Given the description of an element on the screen output the (x, y) to click on. 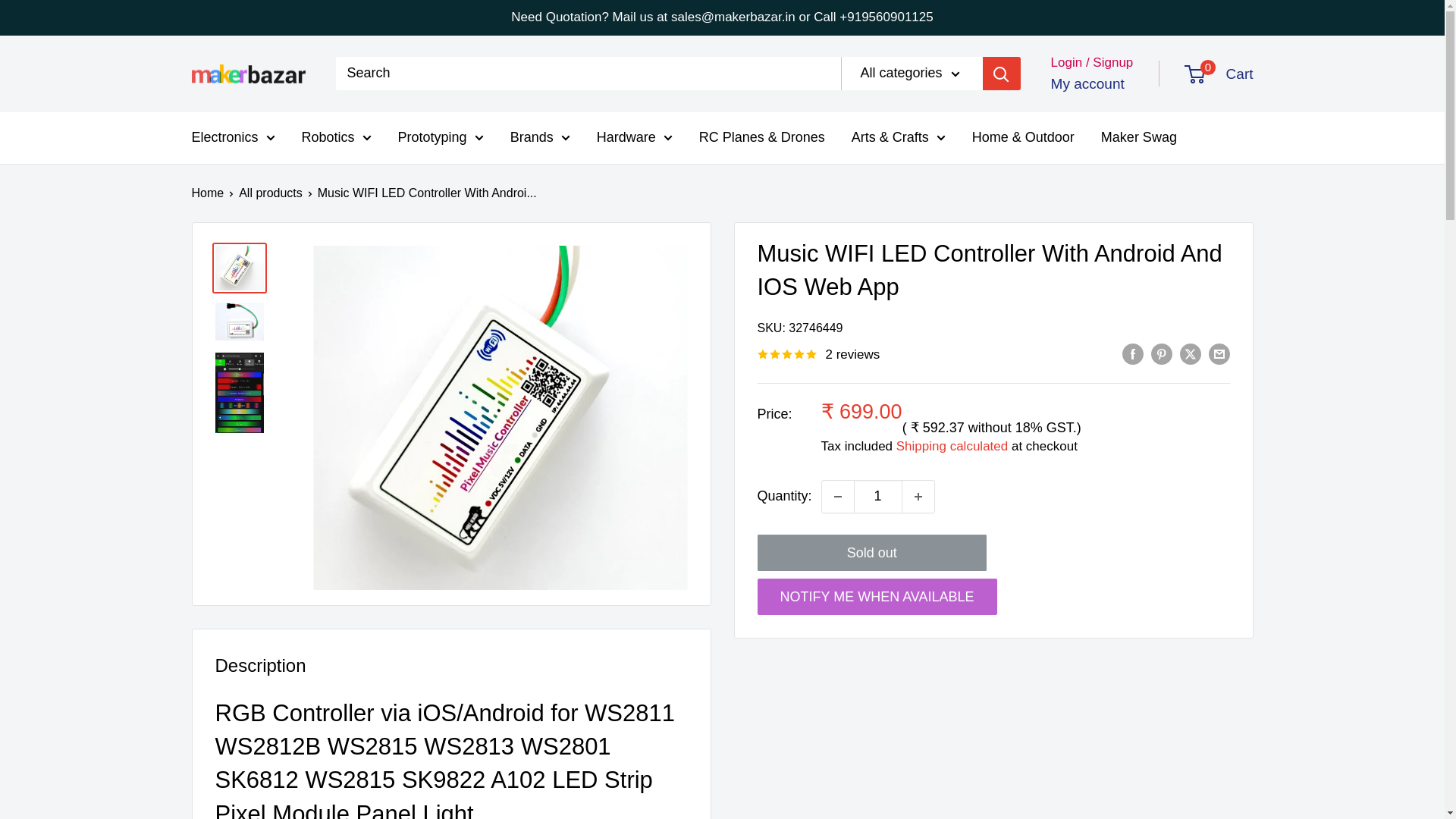
Increase quantity by 1 (918, 496)
1 (877, 496)
Decrease quantity by 1 (837, 496)
